Given the description of an element on the screen output the (x, y) to click on. 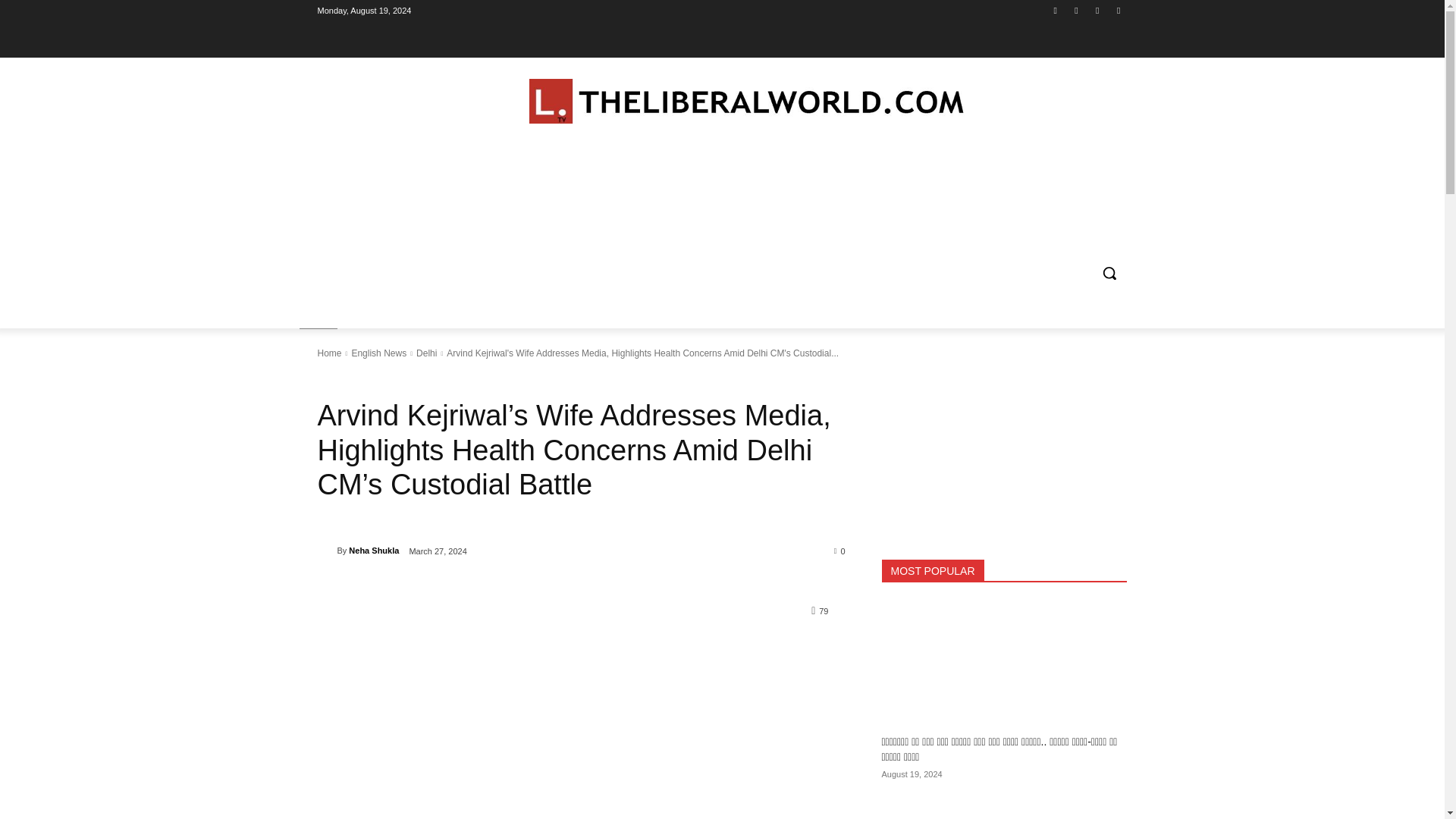
The liberal world (722, 101)
Twitter (1097, 9)
The liberal world (747, 101)
Instagram (1075, 9)
Youtube (1117, 9)
Facebook (1055, 9)
